Given the description of an element on the screen output the (x, y) to click on. 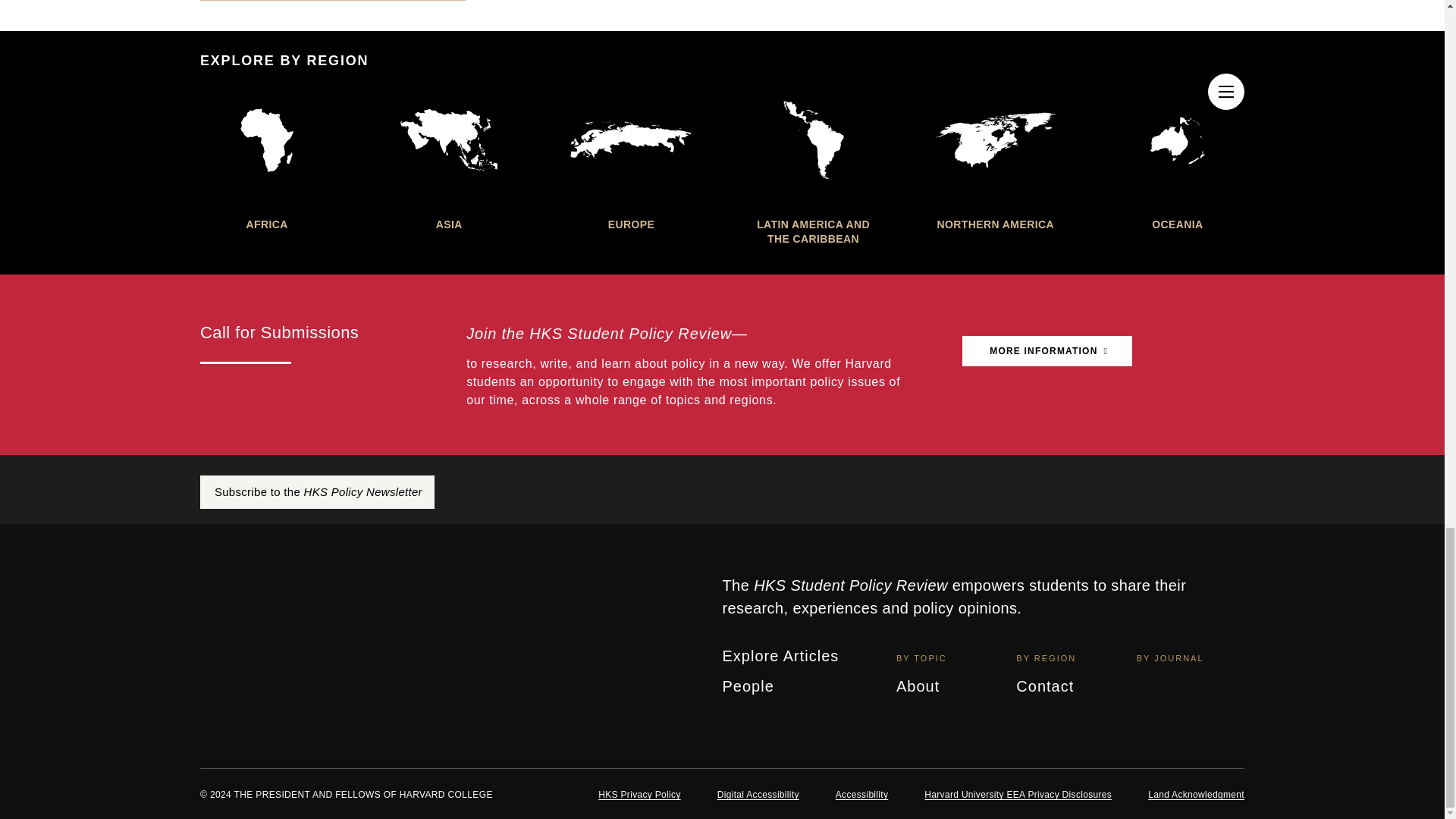
EUROPE (630, 159)
ASIA (448, 159)
AFRICA (266, 159)
